Given the description of an element on the screen output the (x, y) to click on. 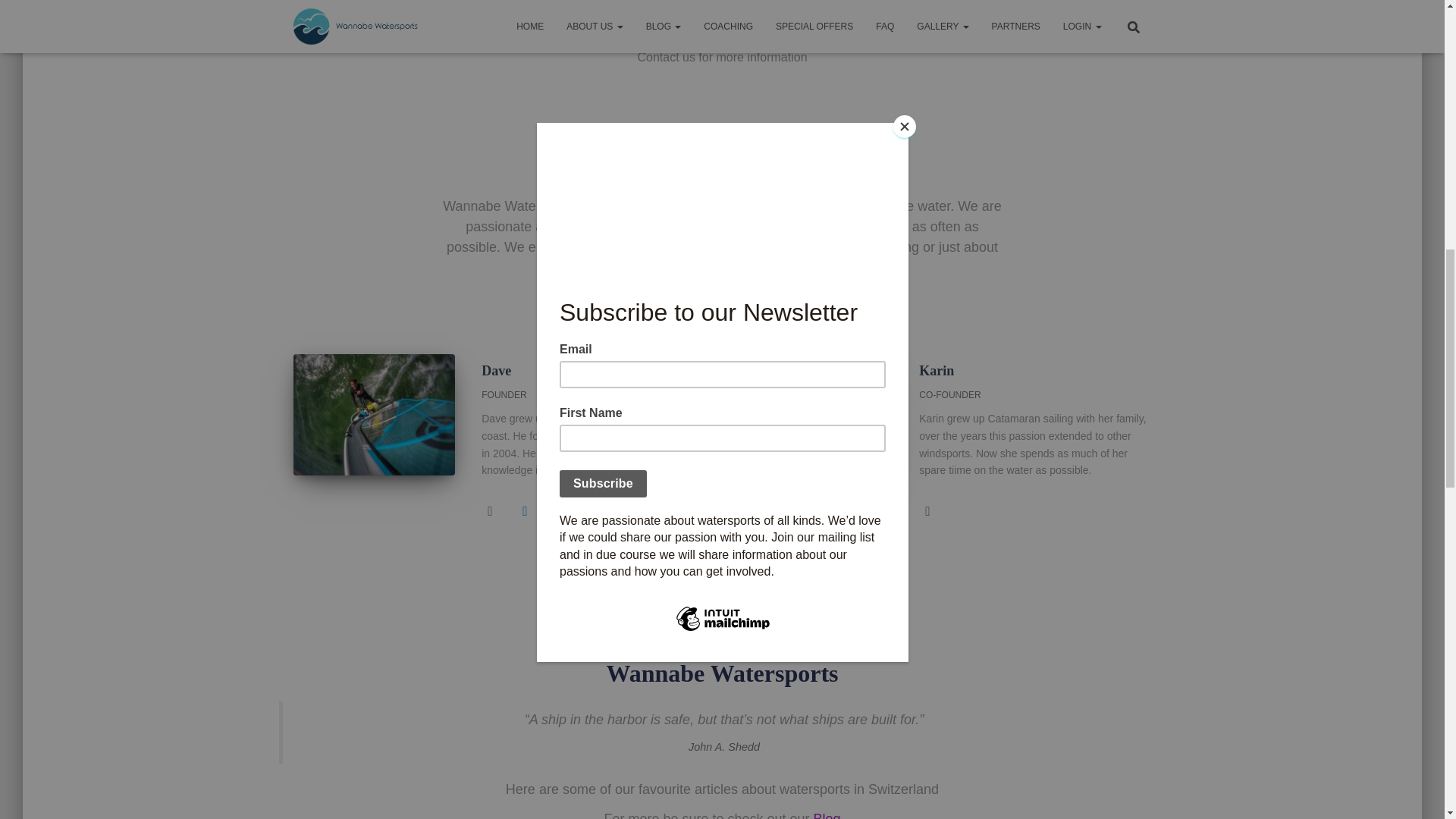
Contact Us (722, 18)
